Given the description of an element on the screen output the (x, y) to click on. 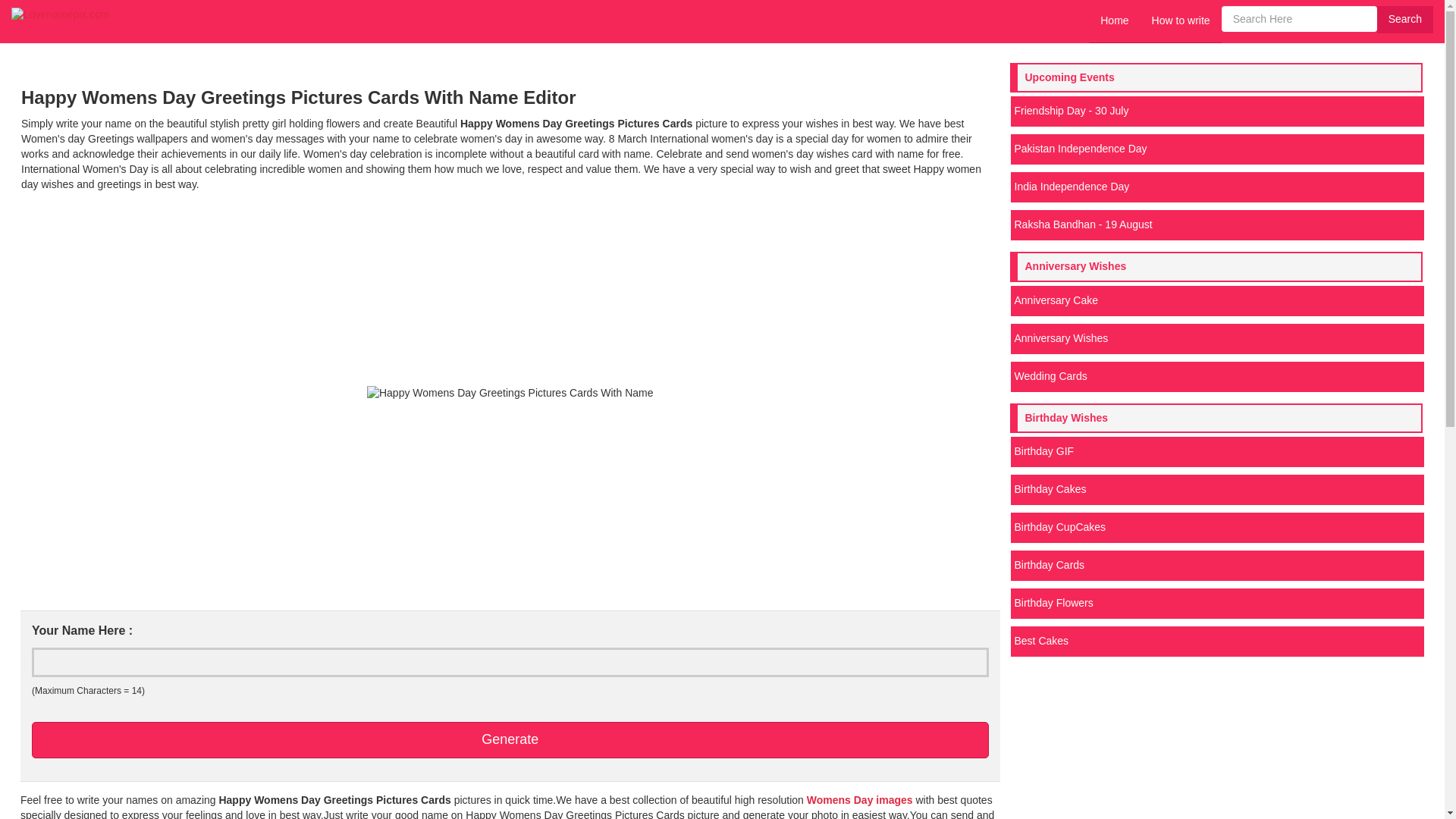
Anniversary Wishes (1216, 338)
Birthday Cards With Name (1216, 565)
Raksha Bandhan - 19 August (1216, 224)
Generate (510, 739)
Birthday GIF With Name (1216, 451)
Friendship Day - 30 July (1216, 111)
Birthday Flowers With Name (1216, 603)
Birthday GIF (1216, 451)
Birthday CupCakes With Name (1216, 527)
Birthday Cake Name Images (1216, 490)
Anniversary Wishes With Name (1216, 338)
Anniversary Cake With Name (1216, 300)
Happy Friendship Day Wishes With Name (1216, 111)
How to write (1180, 21)
Happy Womens Day Greetings Pictures Cards With Name (509, 393)
